Given the description of an element on the screen output the (x, y) to click on. 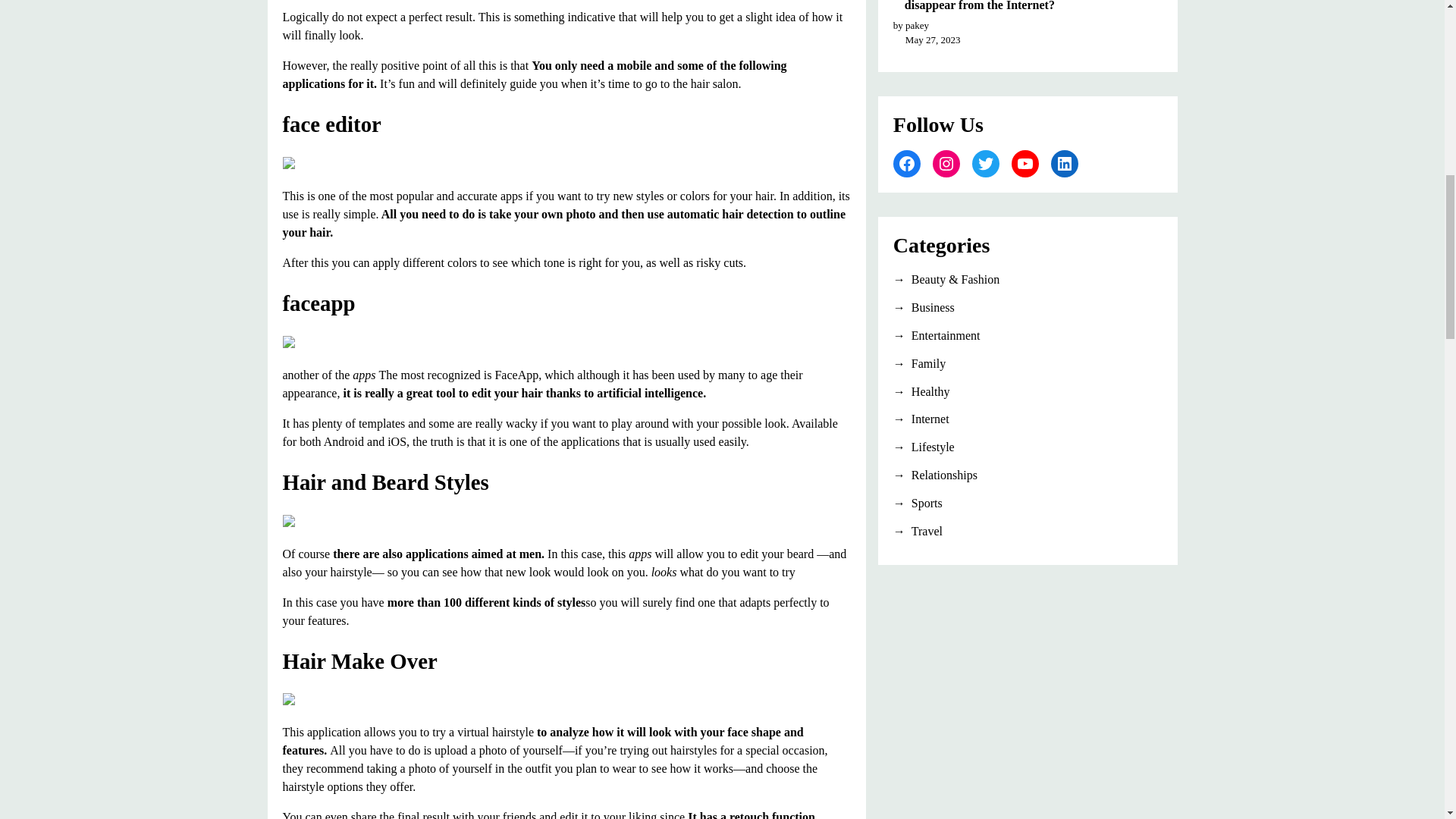
Business (1027, 307)
Instagram (946, 163)
YouTube (1025, 163)
Lifestyle (1027, 447)
Sports (1027, 503)
Facebook (906, 163)
Family (1027, 363)
Healthy (1027, 392)
Relationships (1027, 475)
